Given the description of an element on the screen output the (x, y) to click on. 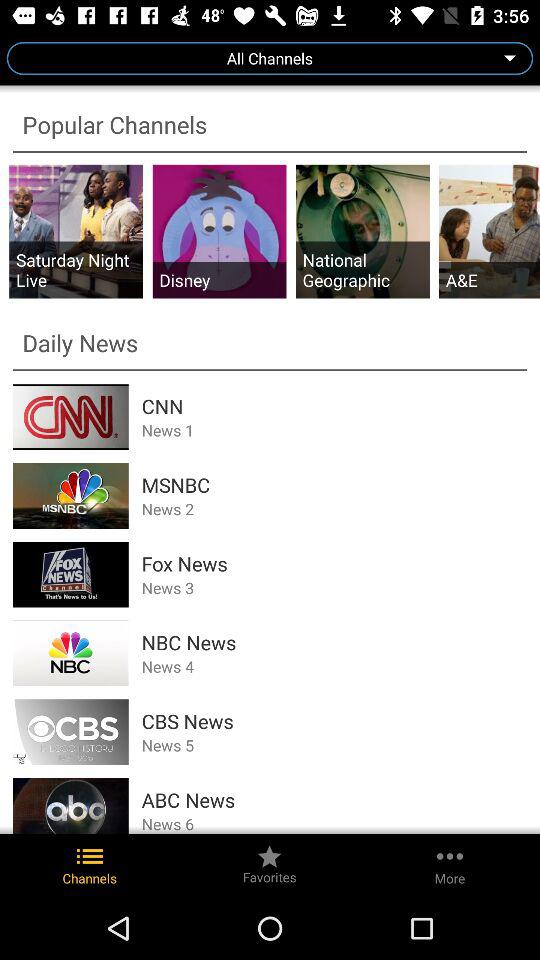
select the icon below news 5 icon (333, 799)
